Given the description of an element on the screen output the (x, y) to click on. 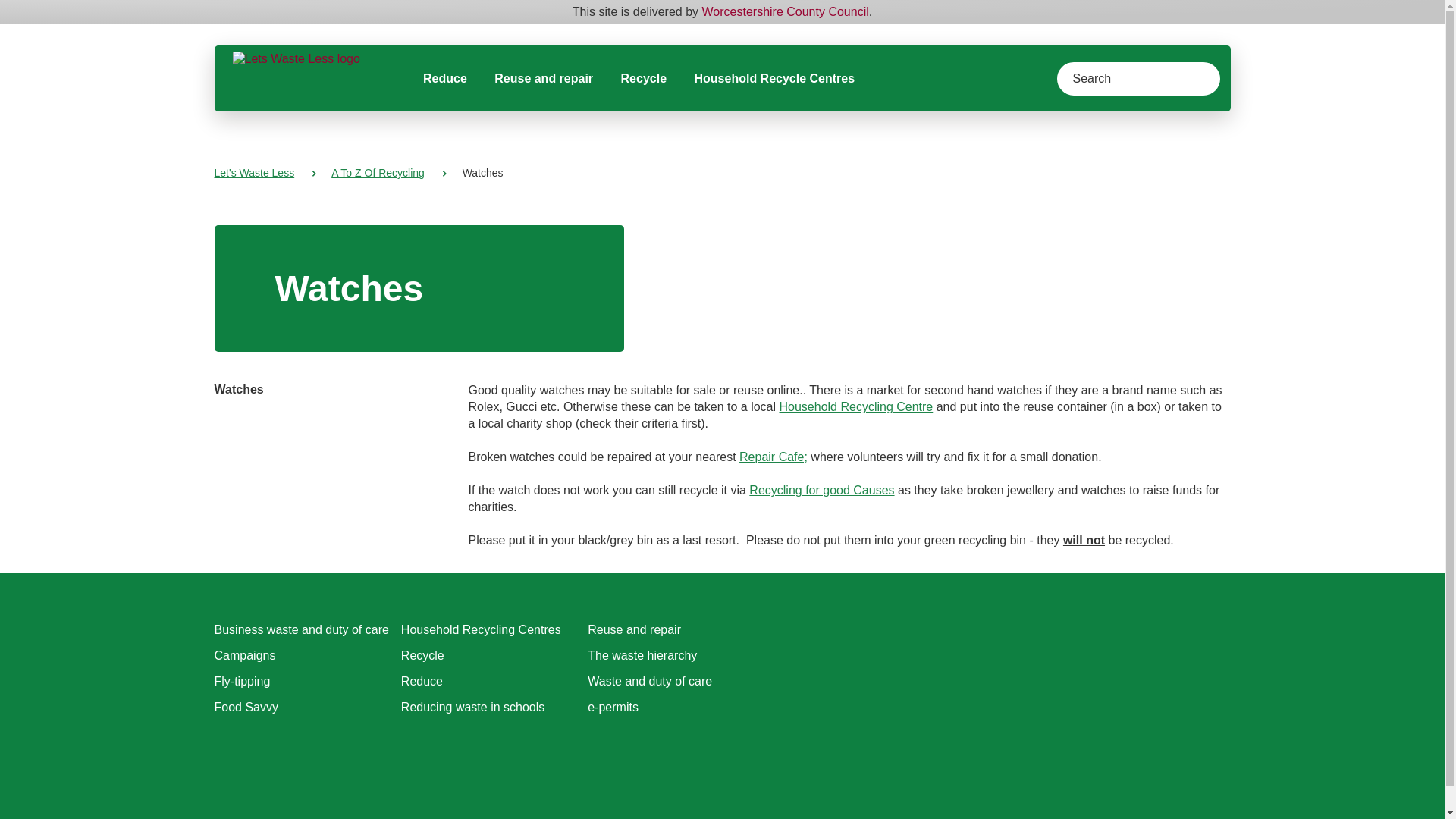
Campaigns (244, 655)
Reduce (445, 78)
Reuse and repair (543, 78)
Worcestershire County Council (785, 11)
e-permits (613, 707)
Household Recycle Centres (774, 78)
Food Savvy (246, 707)
Fly-tipping (241, 680)
Waste and duty of care (649, 680)
Reuse and repair (634, 629)
